Given the description of an element on the screen output the (x, y) to click on. 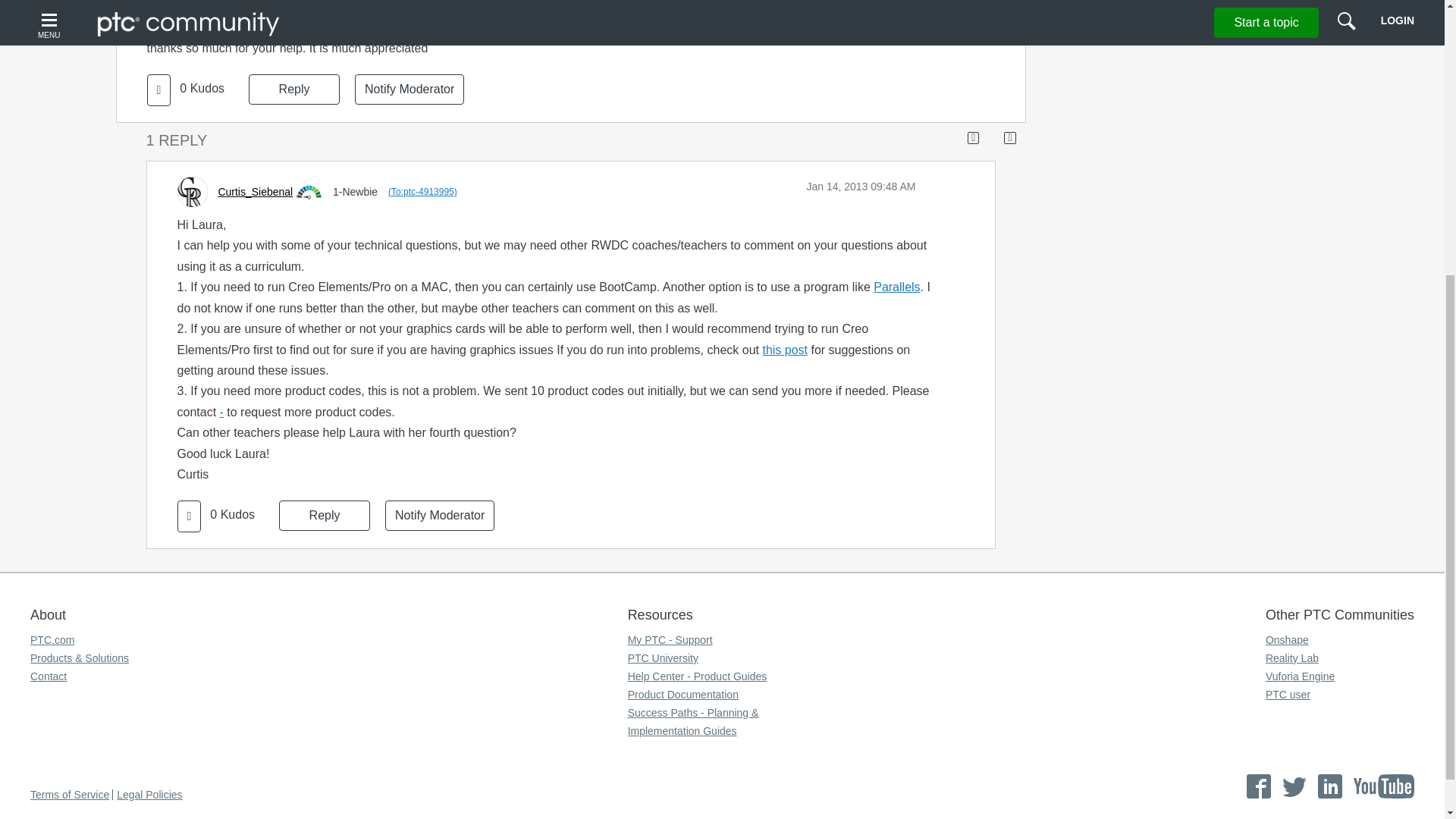
Reply (293, 89)
Notify Moderator (409, 89)
